Given the description of an element on the screen output the (x, y) to click on. 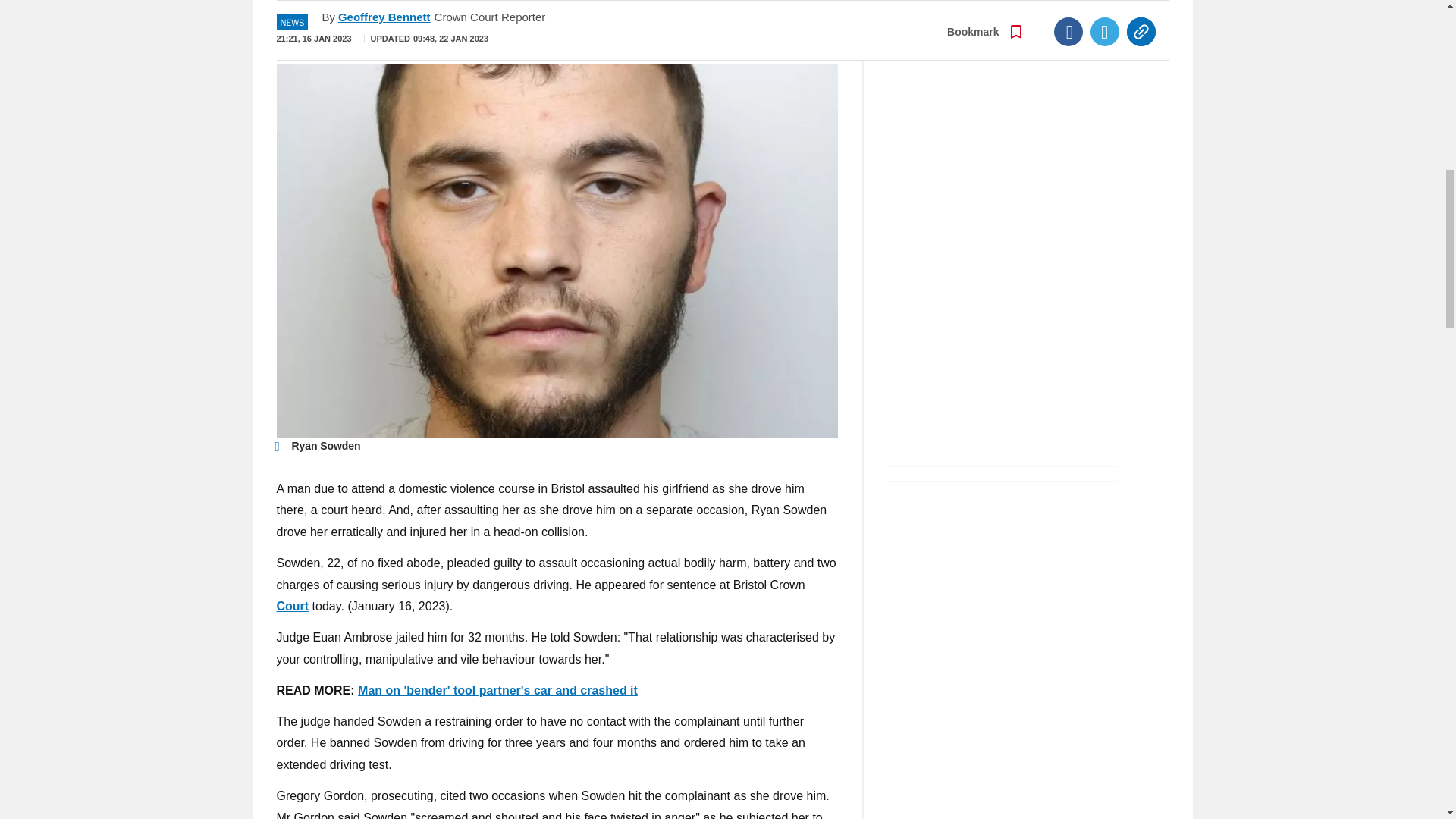
Go (730, 29)
